Given the description of an element on the screen output the (x, y) to click on. 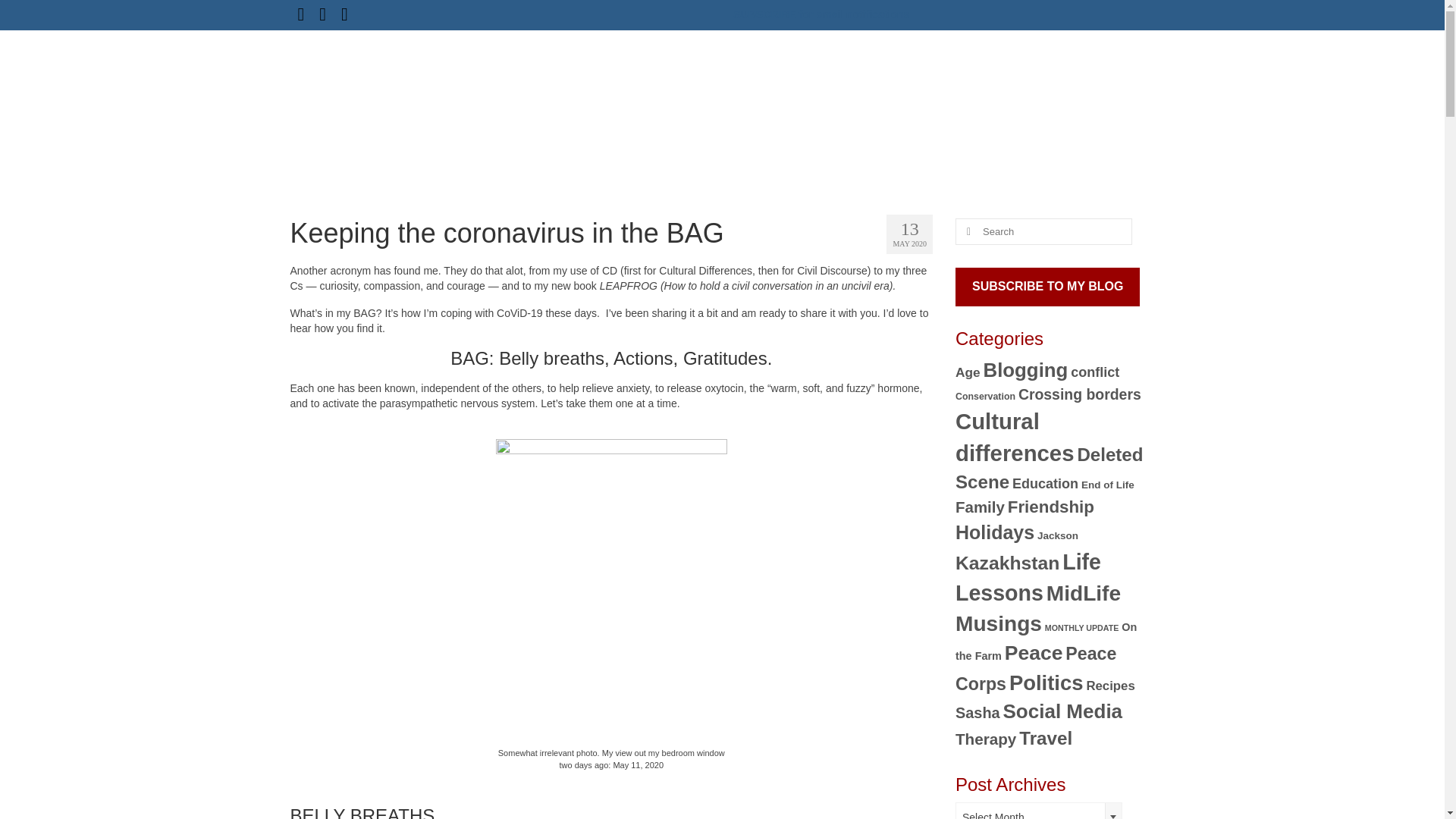
WELCOME (666, 83)
ABOUT (743, 83)
SUBSCRIBE for email notifications (821, 14)
Janet Givens (366, 89)
Select Month (1038, 811)
CONTACT (1113, 83)
Janet Givens (366, 89)
LEARN MORE (1022, 83)
BLOG (807, 83)
